Given the description of an element on the screen output the (x, y) to click on. 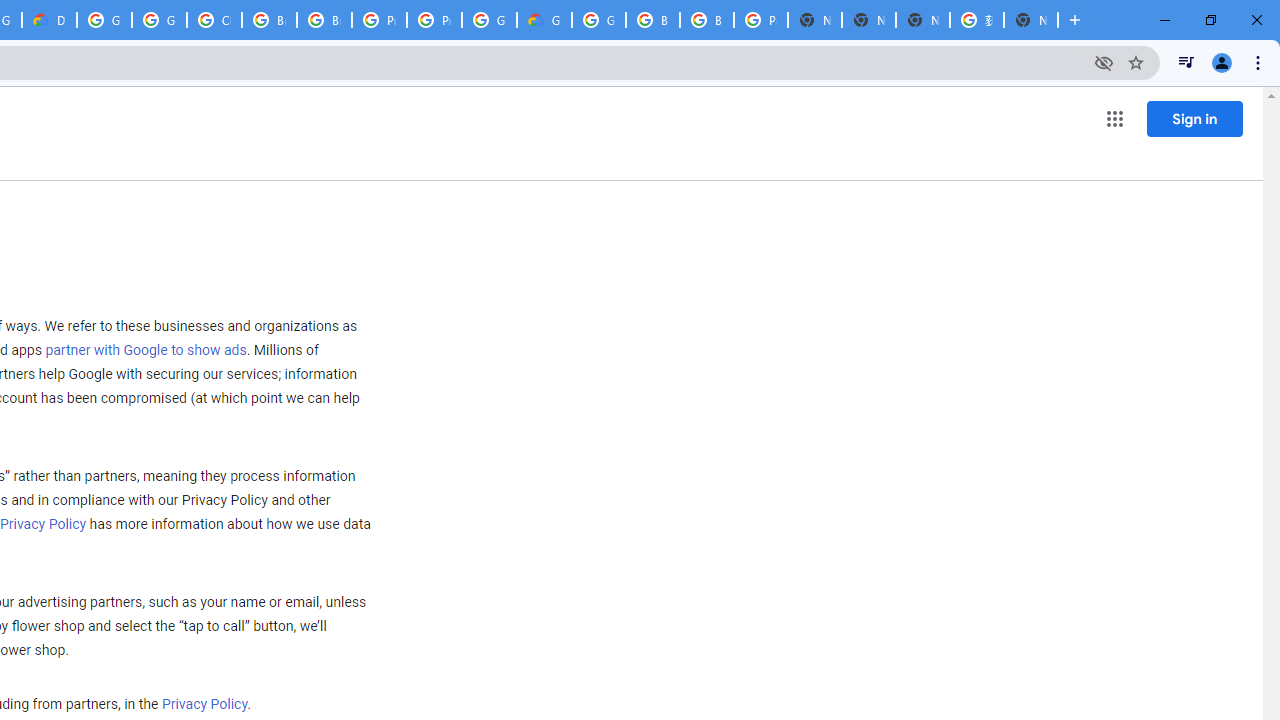
Google Cloud Platform (489, 20)
Google Cloud Platform (103, 20)
New Tab (815, 20)
Google Cloud Platform (598, 20)
Google Cloud Estimate Summary (544, 20)
